Given the description of an element on the screen output the (x, y) to click on. 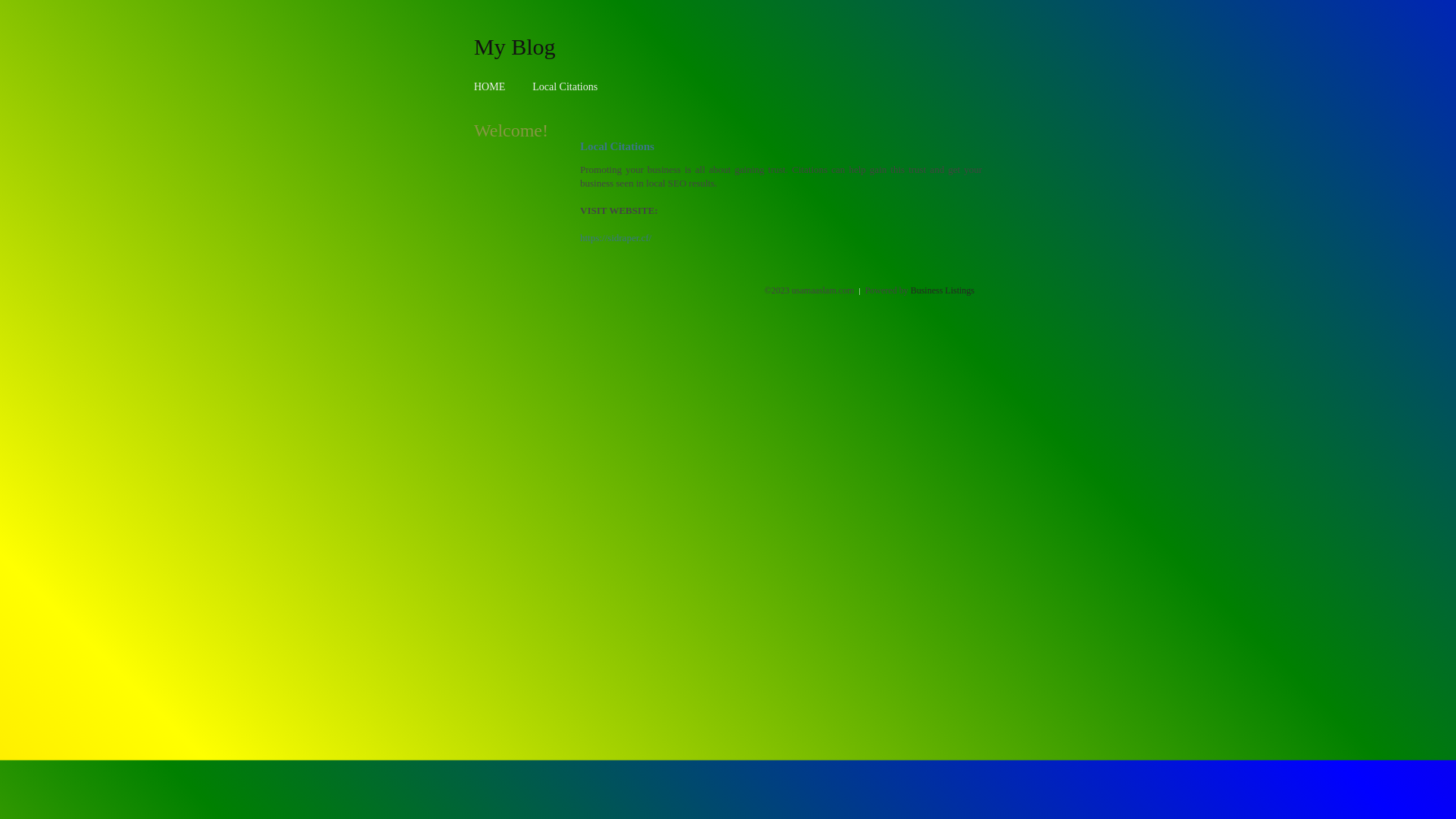
https://sidraper.cf/ Element type: text (615, 237)
My Blog Element type: text (514, 46)
Business Listings Element type: text (942, 290)
Local Citations Element type: text (564, 86)
HOME Element type: text (489, 86)
